Given the description of an element on the screen output the (x, y) to click on. 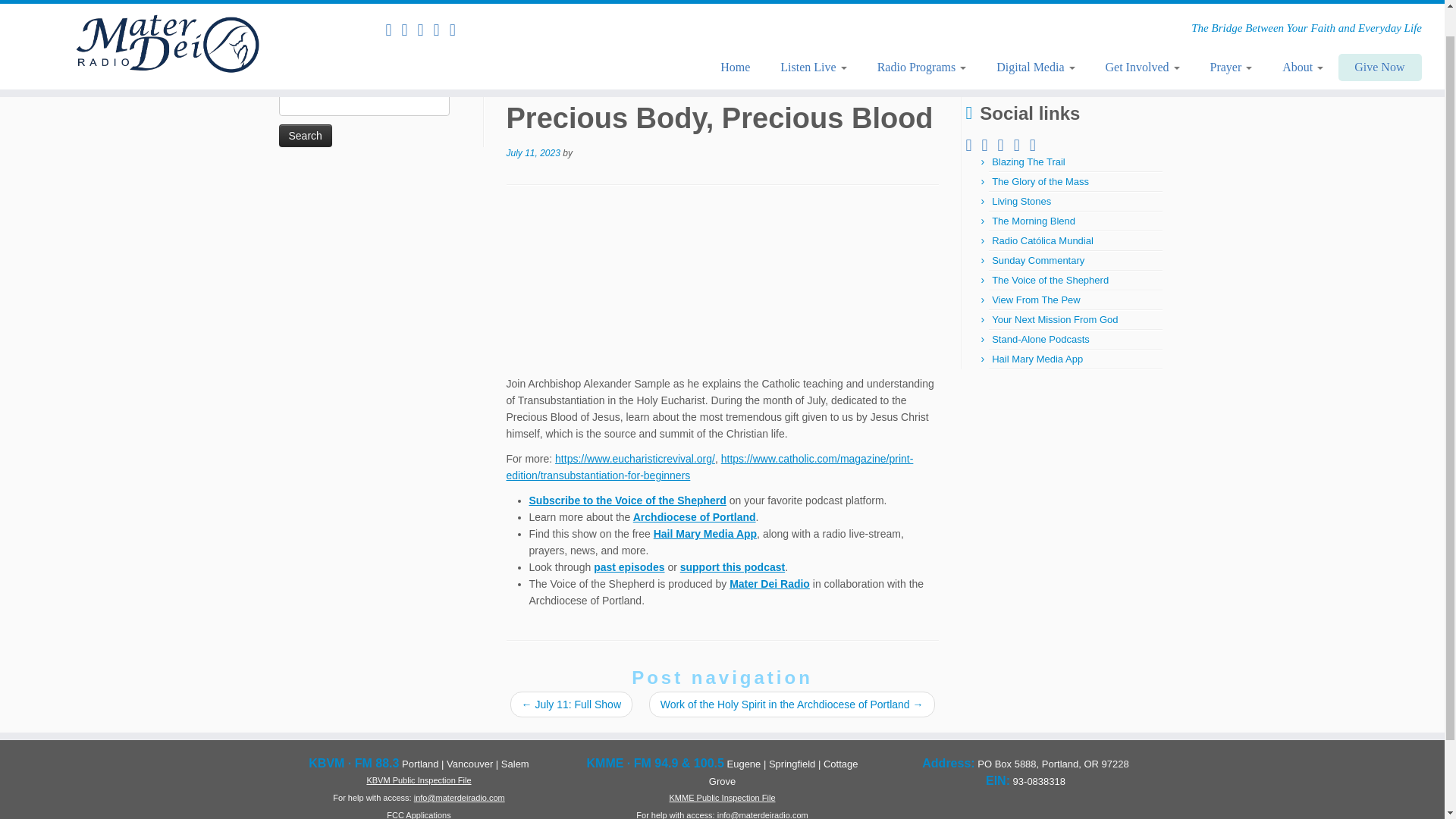
Search (305, 135)
2:00 pm (533, 153)
Listen Now (393, 4)
Follow us on Facebook (409, 4)
Get Involved (1142, 37)
Follow us on Instagram (425, 4)
Follow us on Twitter (441, 4)
Digital Media (1035, 37)
Subscribe to our RSS Feed (457, 4)
Home (734, 37)
